Given the description of an element on the screen output the (x, y) to click on. 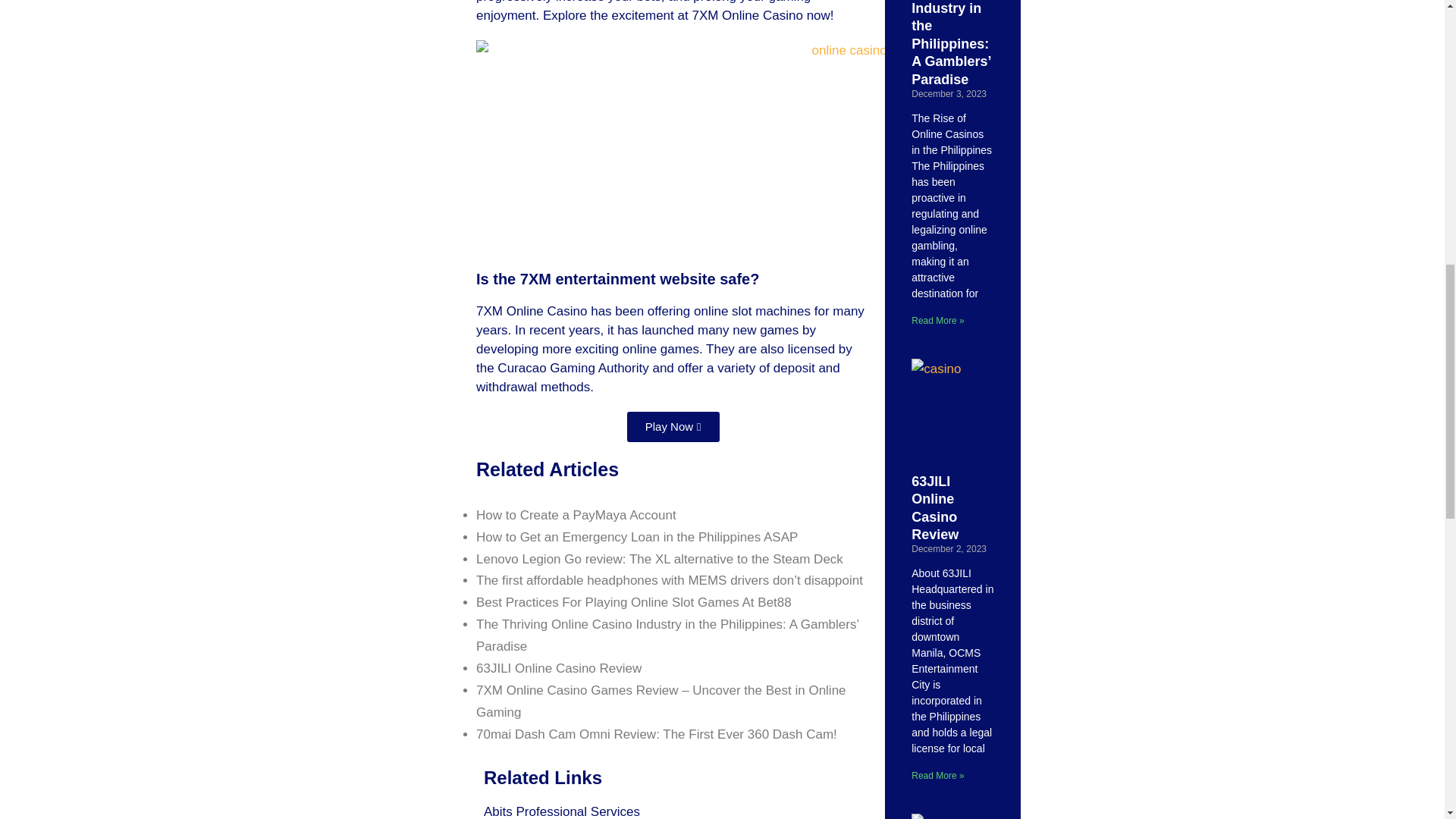
Play Now (673, 426)
How to Create a PayMaya Account (576, 514)
How to Get an Emergency Loan in the Philippines ASAP (636, 536)
7XM Online Casino (748, 15)
70mai Dash Cam Omni Review: The First Ever 360 Dash Cam! (656, 734)
Best Practices For Playing Online Slot Games At Bet88 (634, 602)
63JILI Online Casino Review (559, 667)
Abits Professional Services (561, 811)
